Given the description of an element on the screen output the (x, y) to click on. 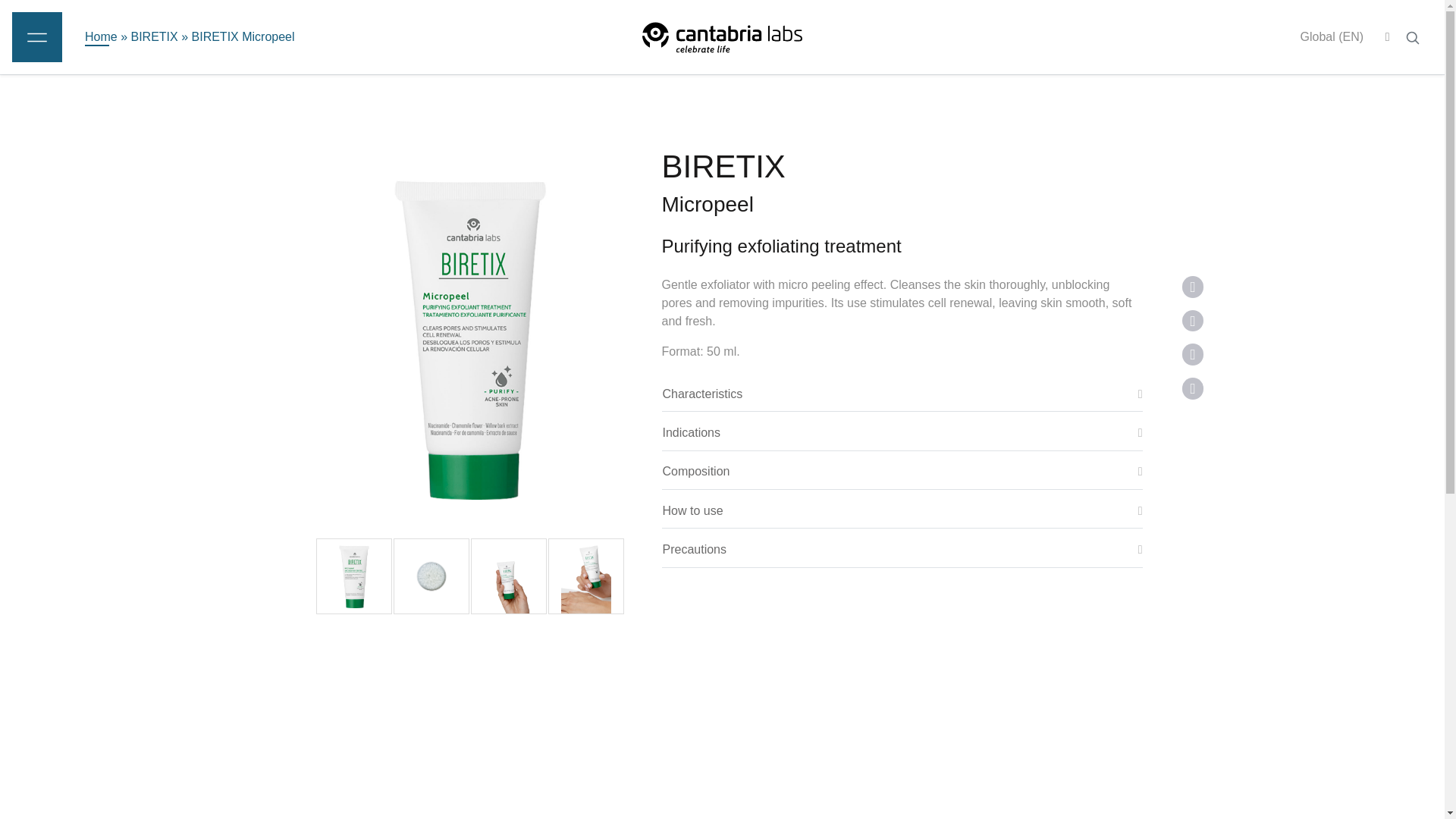
Cantabria Labs (722, 35)
BIRETIX (154, 36)
Buscar (1413, 37)
Home (100, 36)
